Given the description of an element on the screen output the (x, y) to click on. 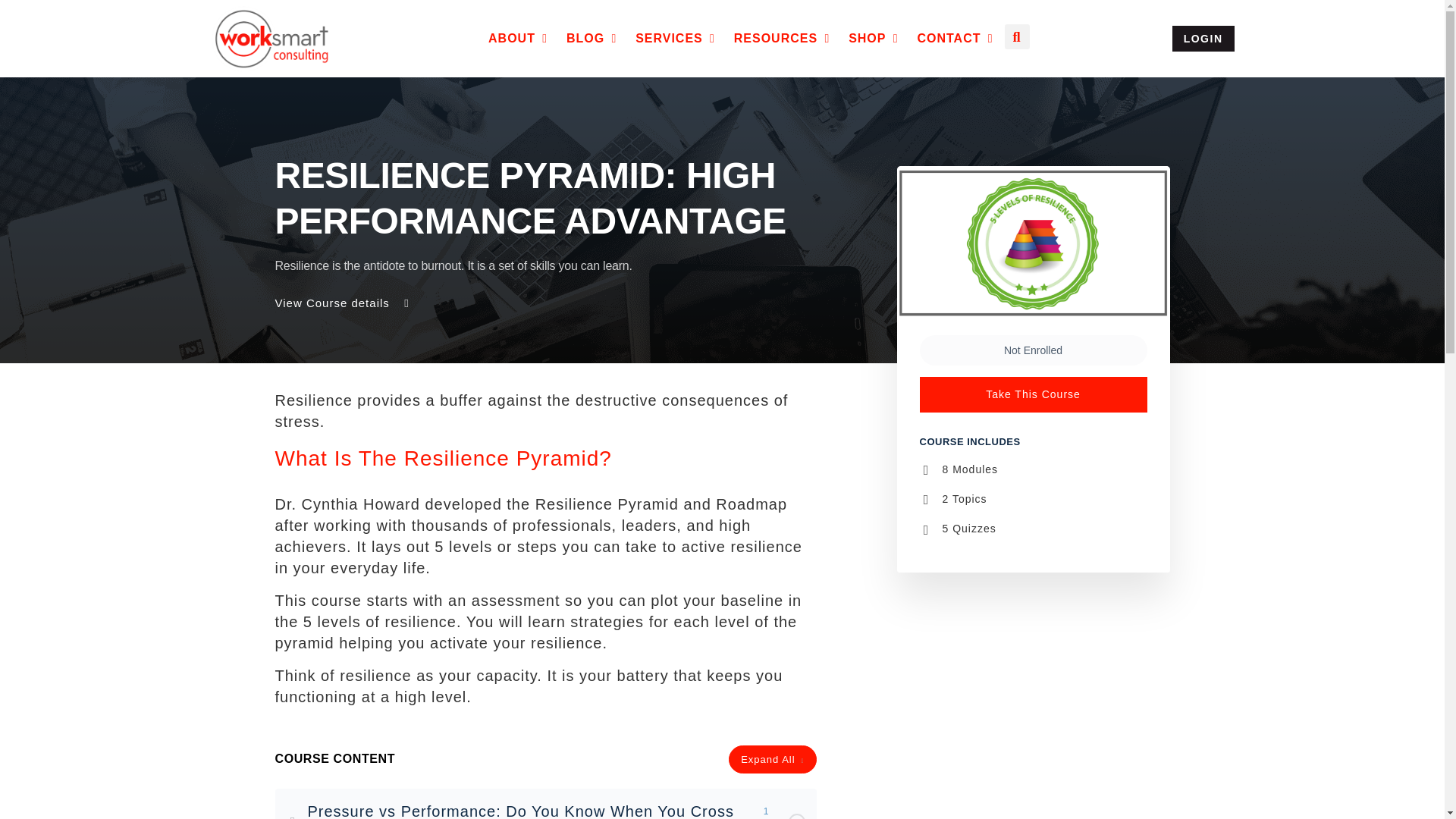
SHOP (866, 38)
LOGIN (1203, 38)
ABOUT (511, 38)
CONTACT (948, 38)
View Course details (343, 302)
